Given the description of an element on the screen output the (x, y) to click on. 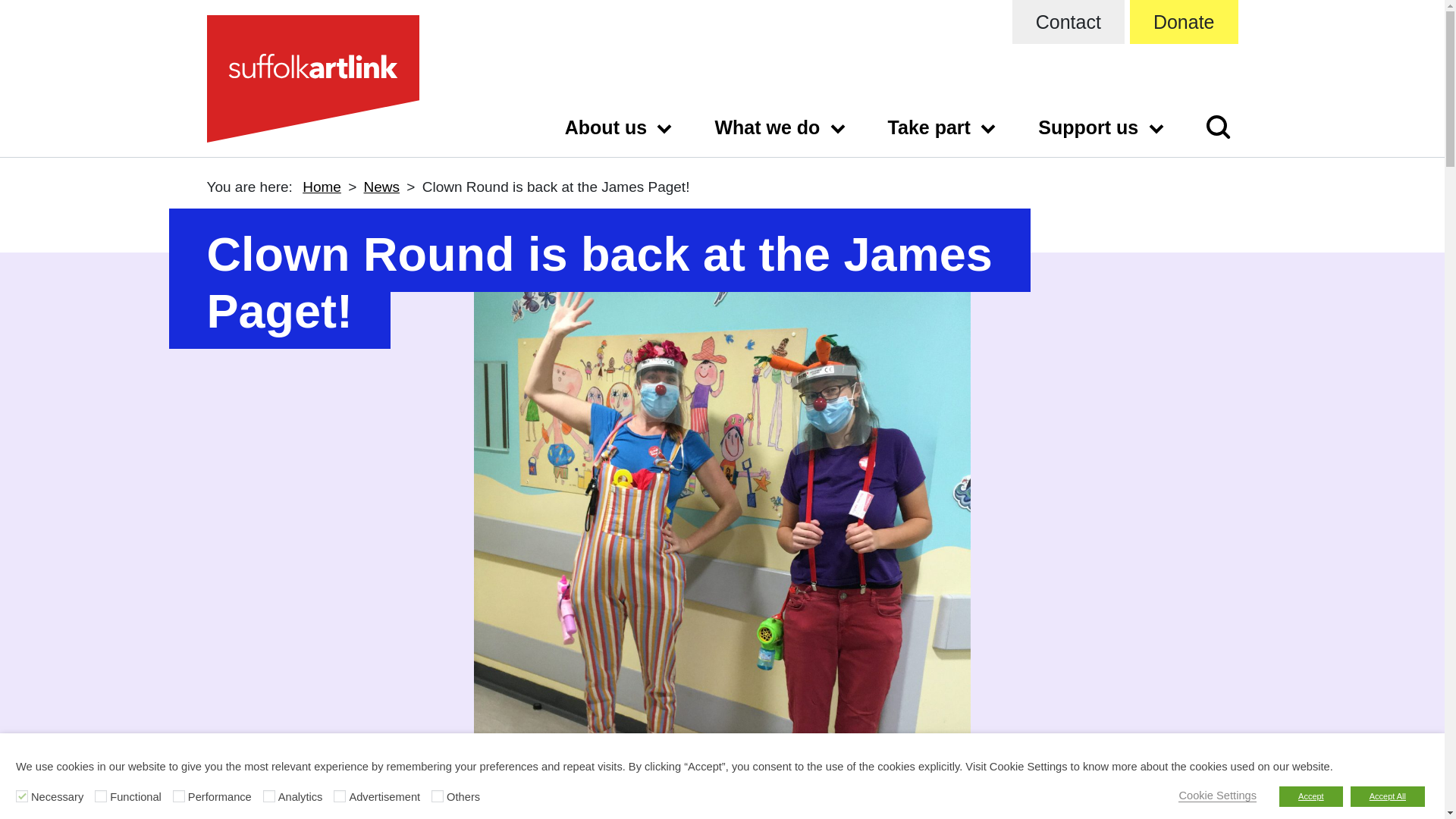
About us (617, 125)
on (21, 796)
Contact (1067, 22)
Donate (1184, 22)
on (100, 796)
Take part (940, 125)
on (437, 796)
on (178, 796)
What we do (777, 125)
on (339, 796)
on (269, 796)
